Given the description of an element on the screen output the (x, y) to click on. 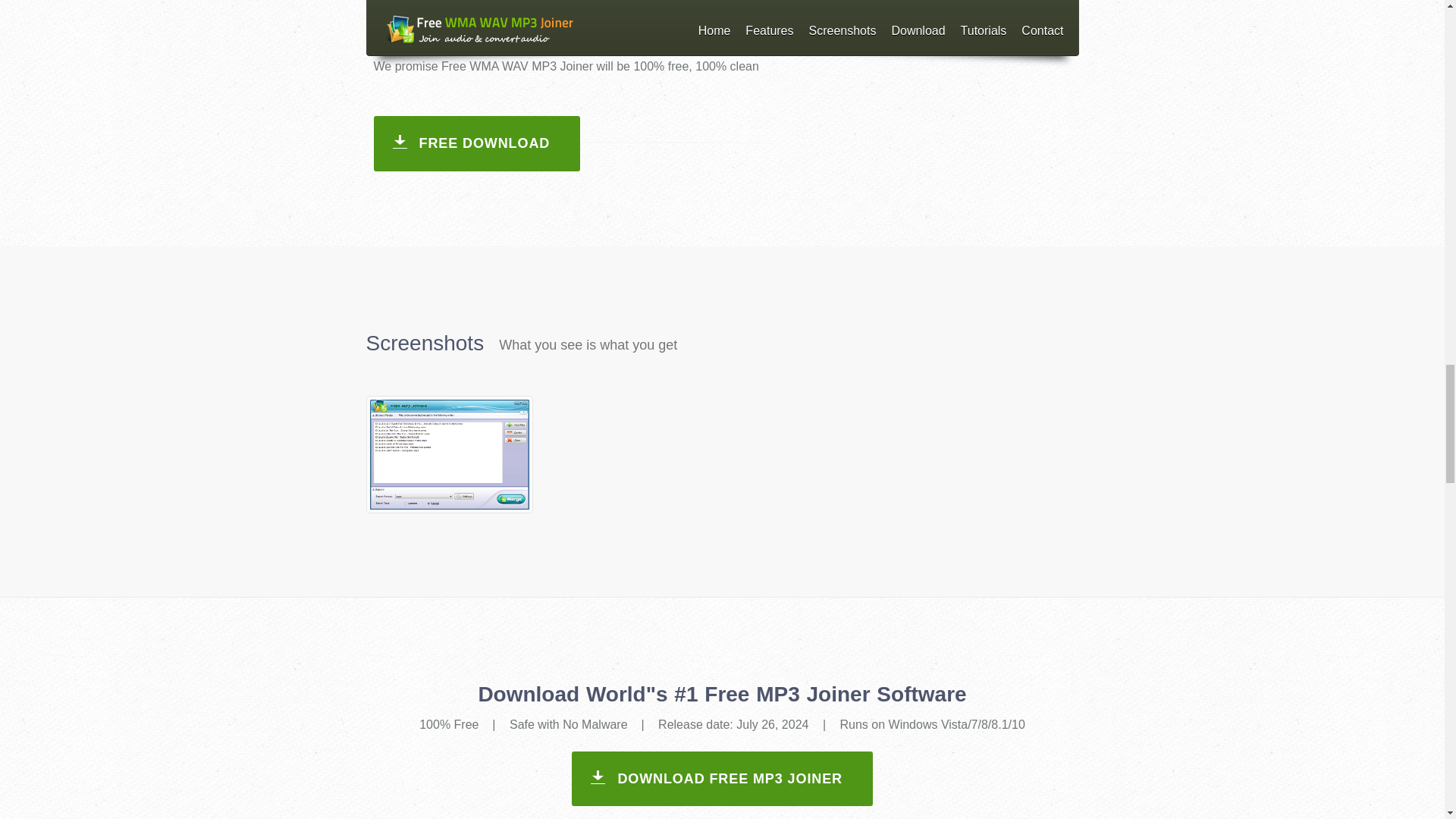
DOWNLOAD FREE MP3 JOINER (722, 778)
FREE DOWNLOAD (475, 143)
